Given the description of an element on the screen output the (x, y) to click on. 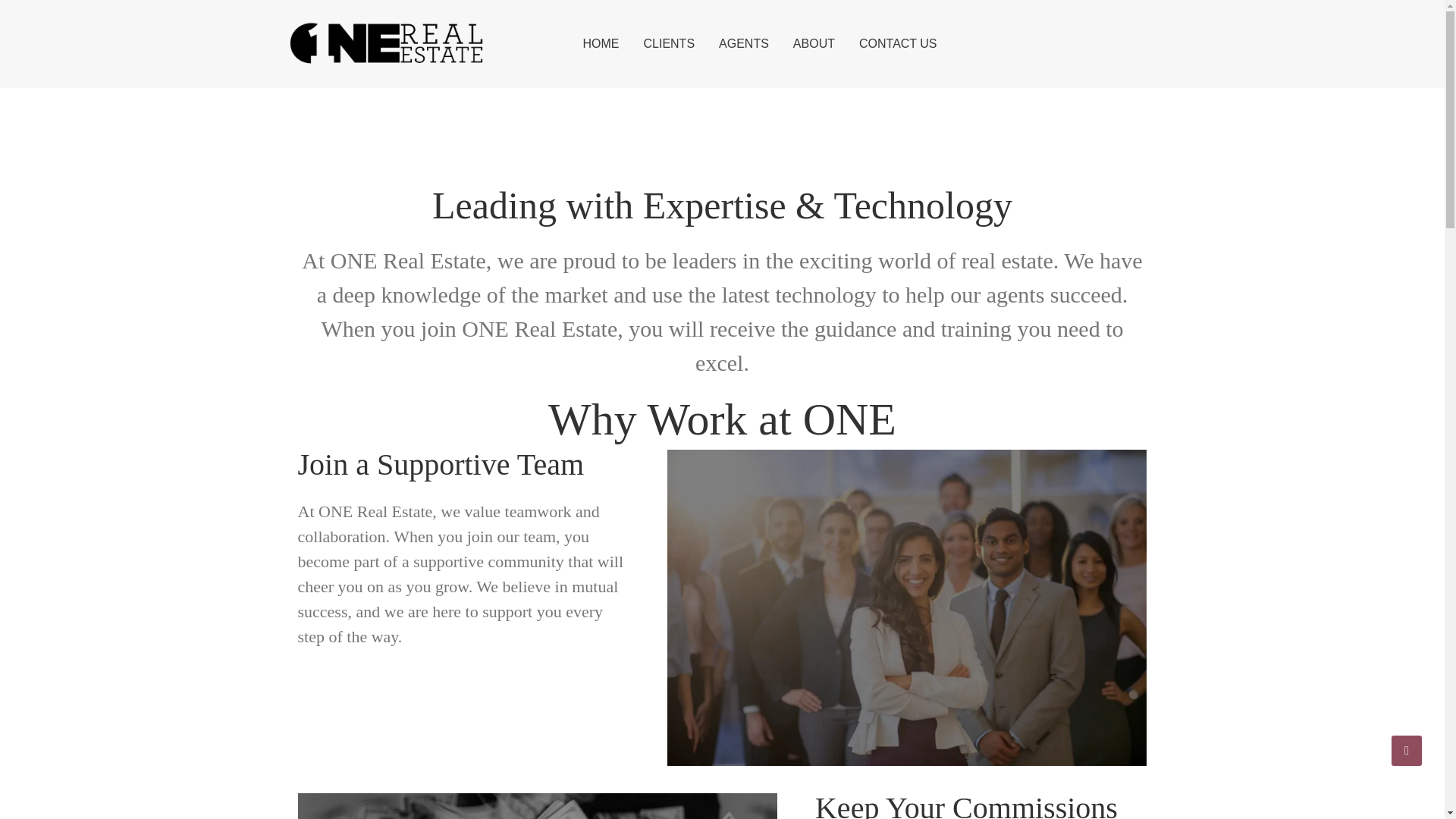
ABOUT (813, 43)
AGENTS (743, 43)
Go to Top (1406, 750)
HOME (600, 43)
CONTACT US (898, 43)
CLIENTS (668, 43)
